Given the description of an element on the screen output the (x, y) to click on. 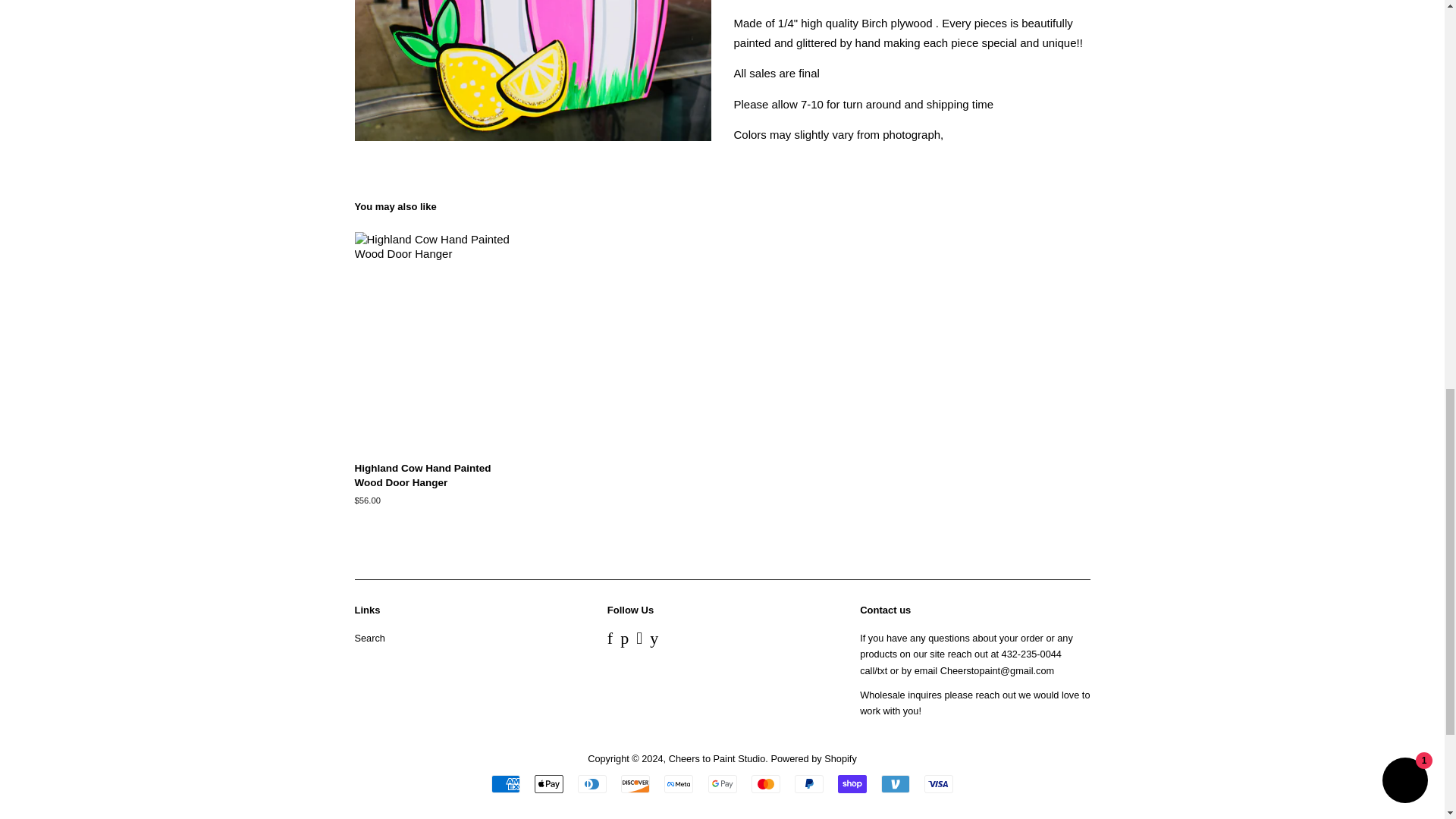
PayPal (809, 783)
Apple Pay (548, 783)
Mastercard (765, 783)
Shop Pay (852, 783)
American Express (505, 783)
Discover (635, 783)
Meta Pay (678, 783)
Venmo (895, 783)
Diners Club (592, 783)
Google Pay (721, 783)
Visa (938, 783)
